Given the description of an element on the screen output the (x, y) to click on. 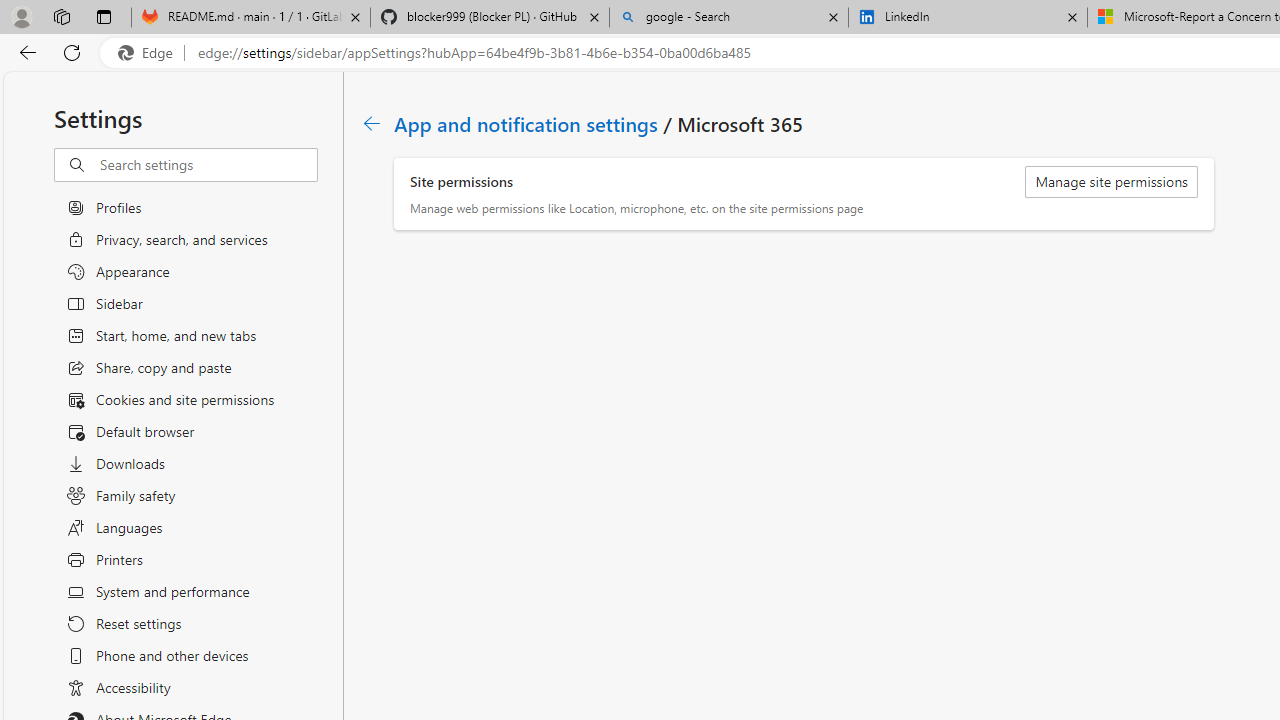
LinkedIn (967, 17)
Go back to App and notification settings page. (372, 123)
Search settings (207, 165)
App and notification settings (527, 123)
Manage site permissions (1111, 182)
Edge (150, 53)
Class: c01182 (371, 123)
google - Search (729, 17)
